Given the description of an element on the screen output the (x, y) to click on. 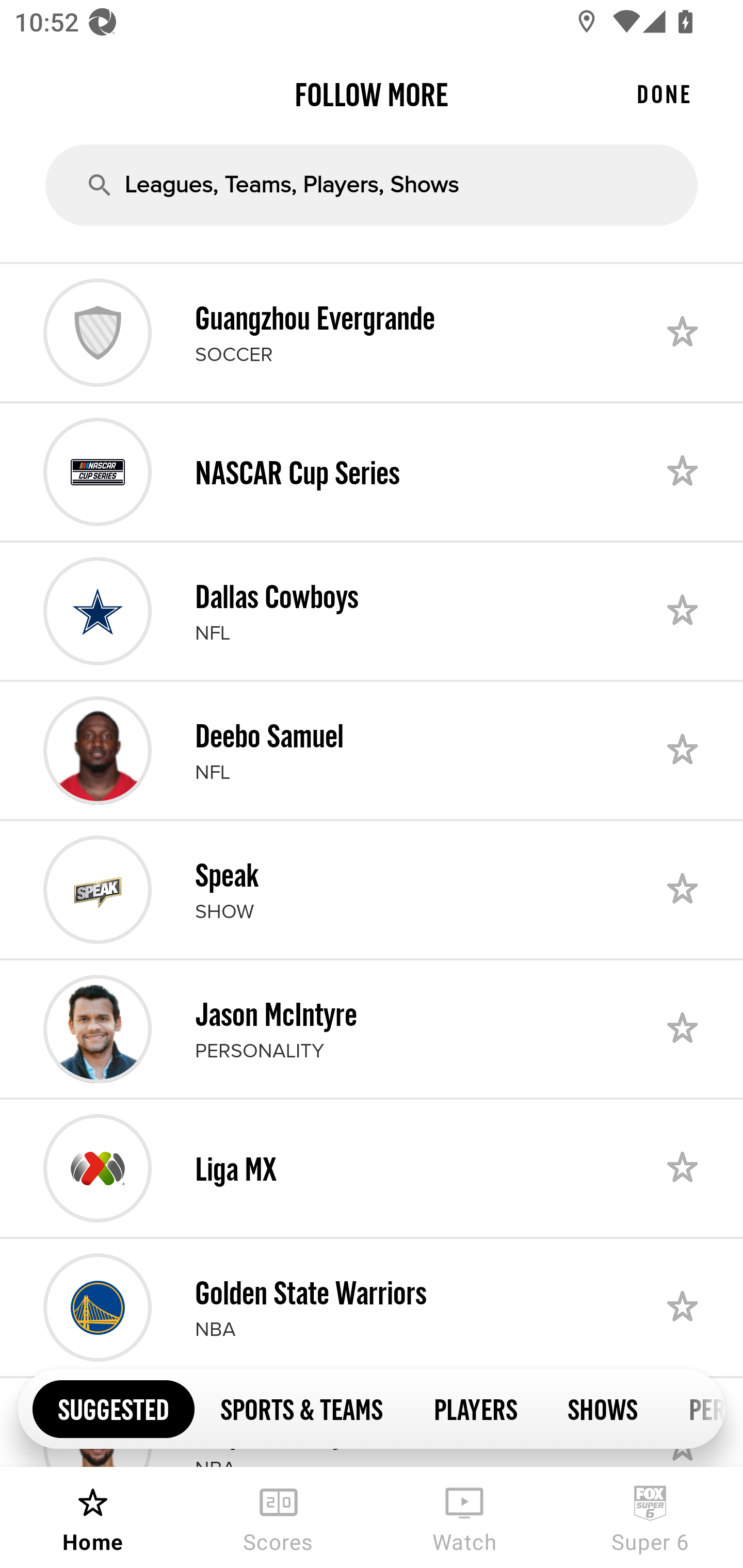
DONE (663, 93)
Leagues, Teams, Players, Shows (371, 184)
Guangzhou Evergrande SOCCER (371, 332)
NASCAR Cup Series (371, 471)
Dallas Cowboys NFL (371, 611)
Deebo Samuel NFL (371, 750)
Speak SHOW (371, 889)
Jason McIntyre PERSONALITY (371, 1028)
Liga MX (371, 1168)
Golden State Warriors NBA (371, 1307)
SPORTS & TEAMS (300, 1408)
PLAYERS (474, 1408)
SHOWS (602, 1408)
Scores (278, 1517)
Watch (464, 1517)
Super 6 (650, 1517)
